Given the description of an element on the screen output the (x, y) to click on. 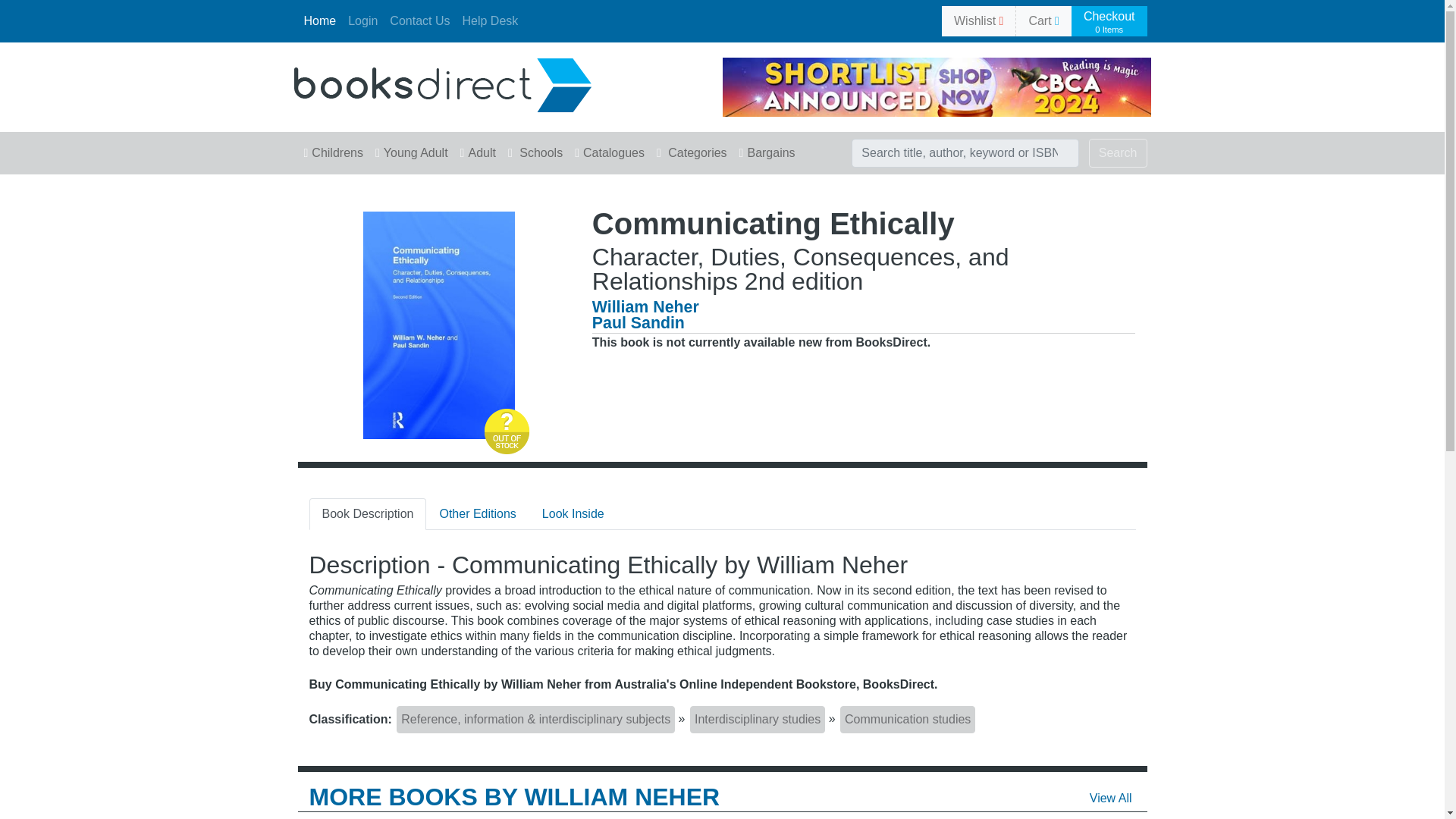
Cart (1043, 20)
Help Desk (489, 20)
Contact Us (419, 20)
Login (363, 20)
BooksDirect (1109, 21)
Wishlist (442, 83)
